Given the description of an element on the screen output the (x, y) to click on. 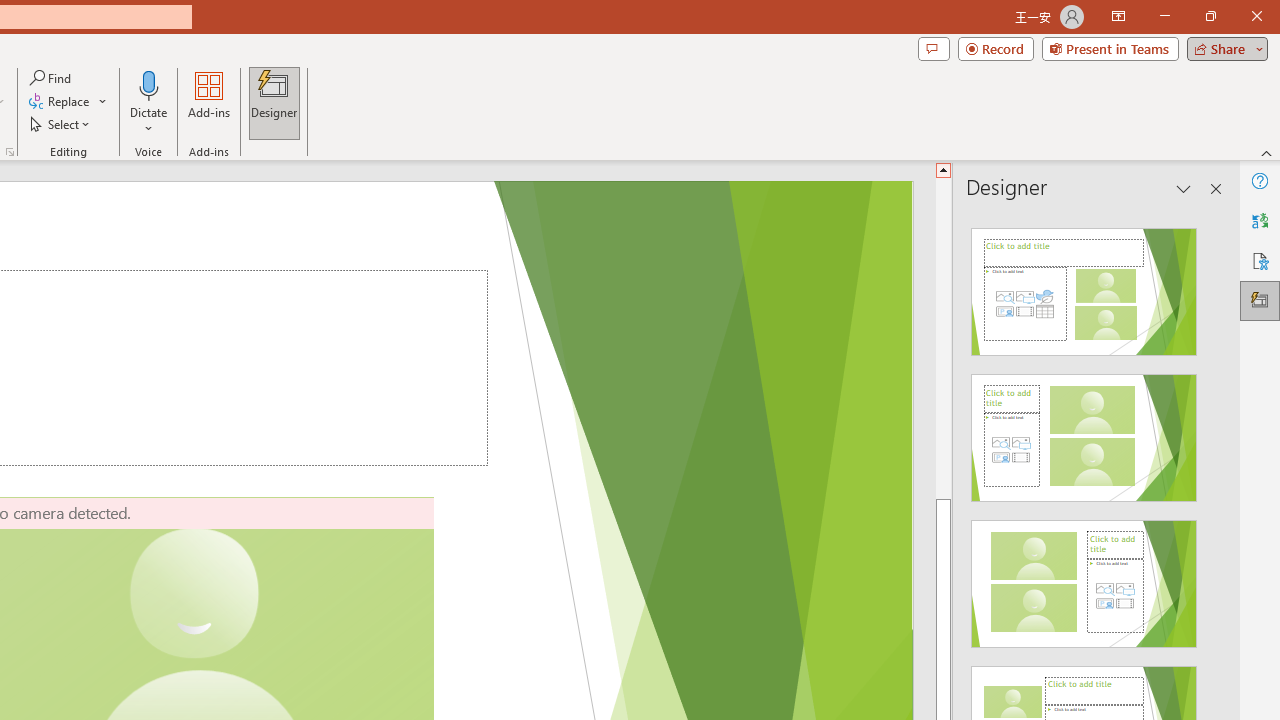
Format Object... (9, 151)
Find... (51, 78)
